Given the description of an element on the screen output the (x, y) to click on. 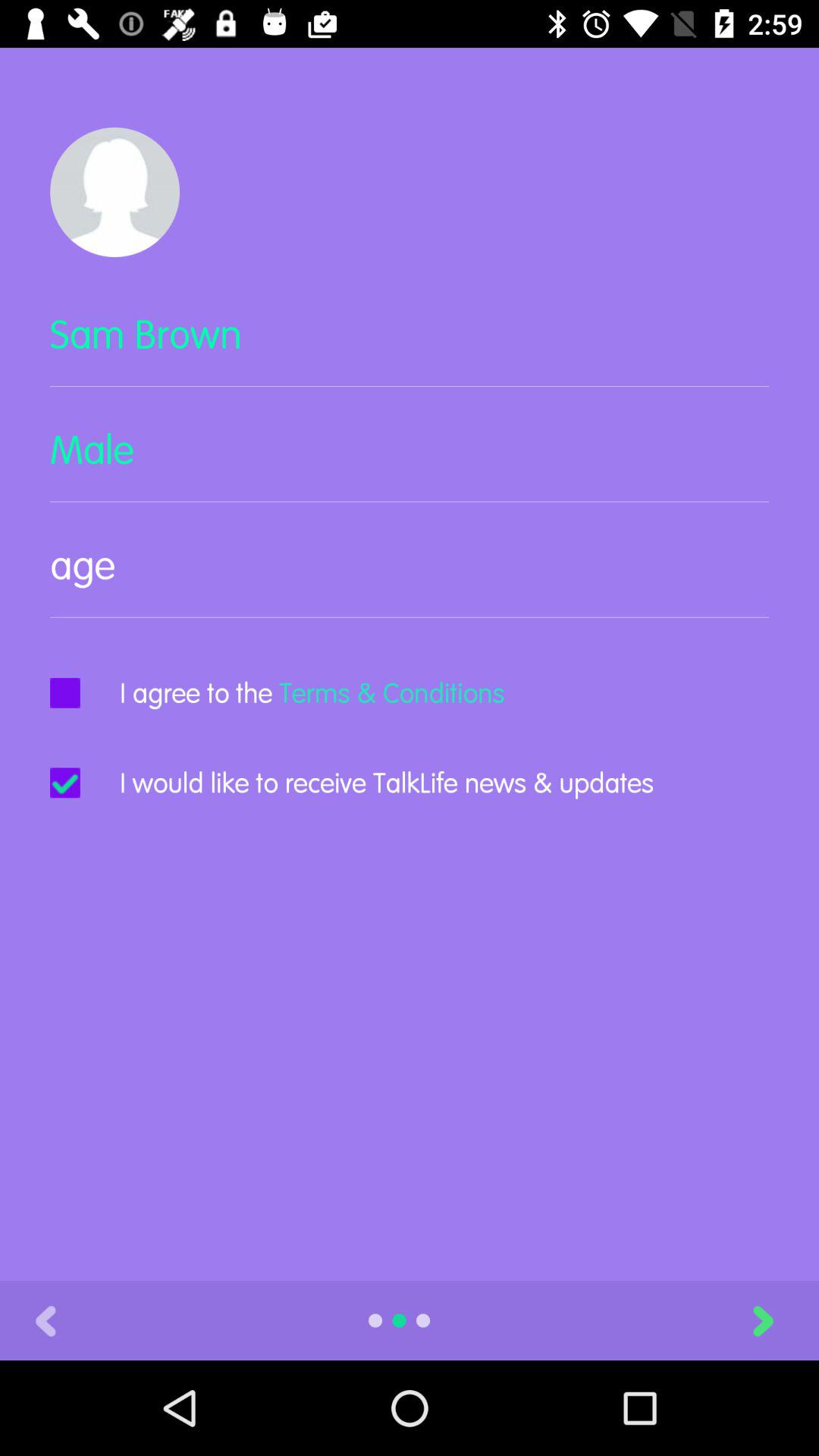
choose sam brown item (409, 346)
